Given the description of an element on the screen output the (x, y) to click on. 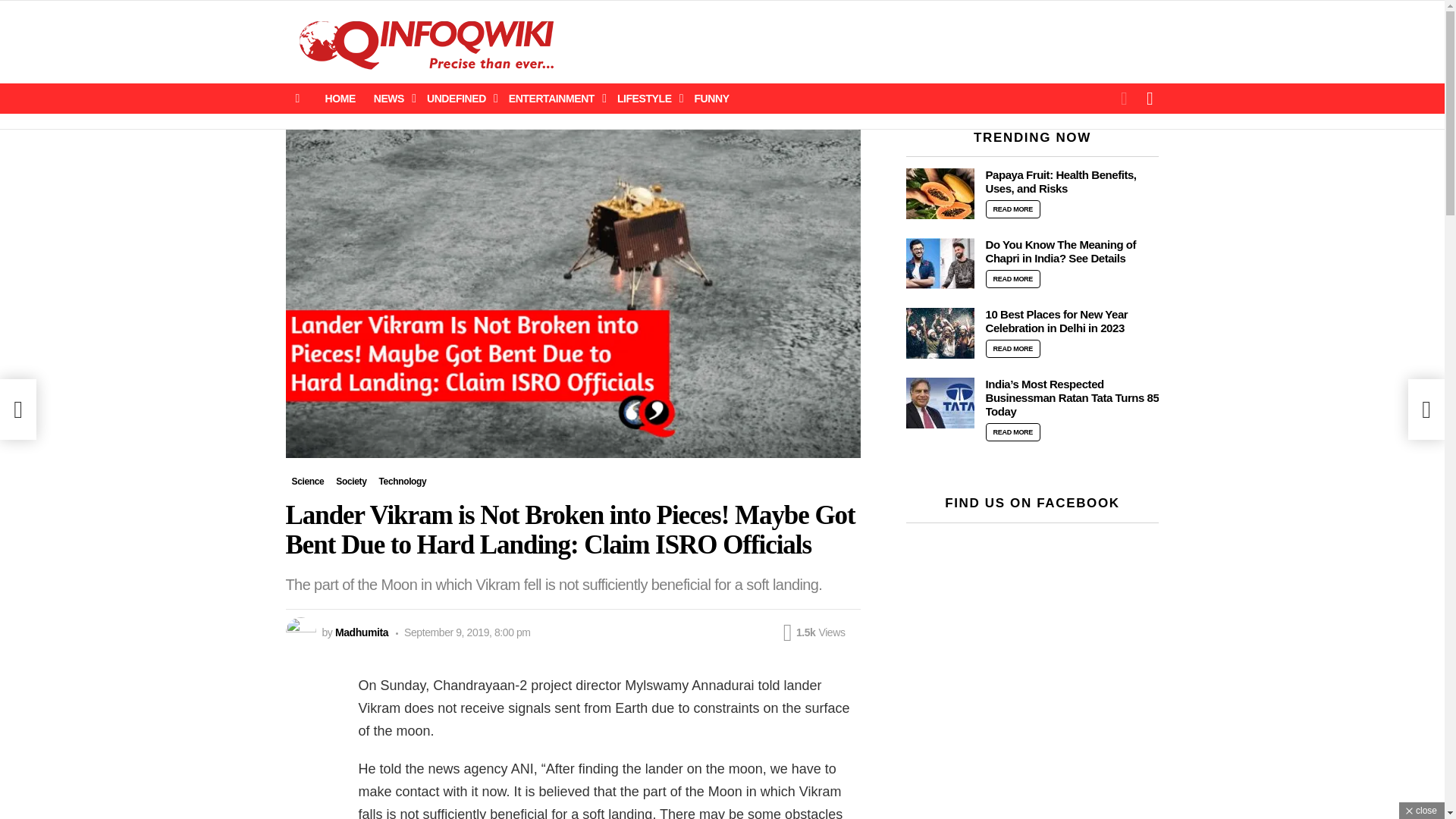
NEWS (391, 97)
Papaya Fruit: Health Benefits, Uses, and Risks (939, 193)
LIFESTYLE (647, 97)
FUNNY (710, 97)
Technology (402, 481)
Menu (296, 98)
Posts by Madhumita (361, 632)
UNDEFINED (458, 97)
Science (307, 481)
ENTERTAINMENT (553, 97)
